Given the description of an element on the screen output the (x, y) to click on. 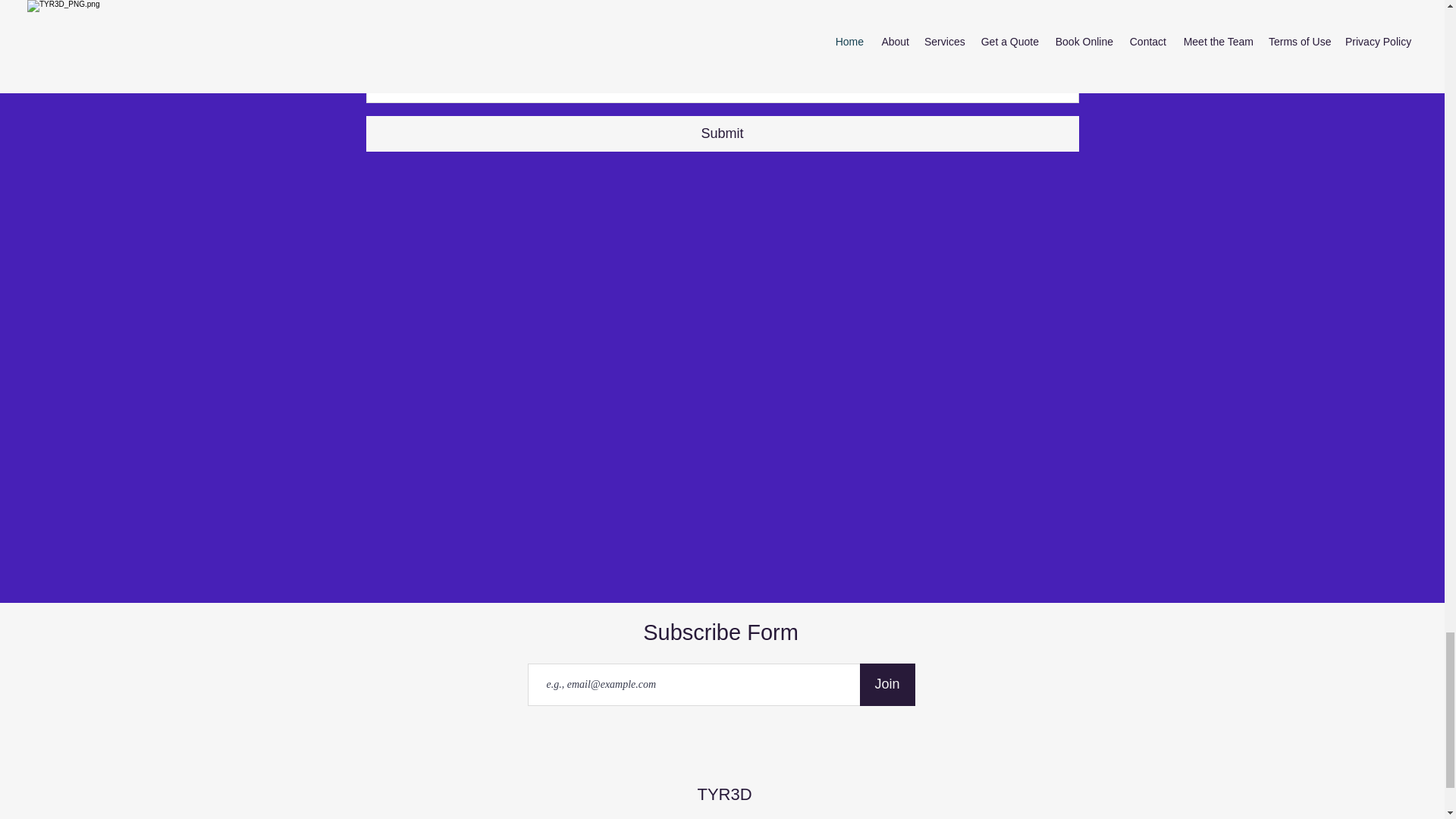
Submit (721, 133)
Join (887, 684)
